Given the description of an element on the screen output the (x, y) to click on. 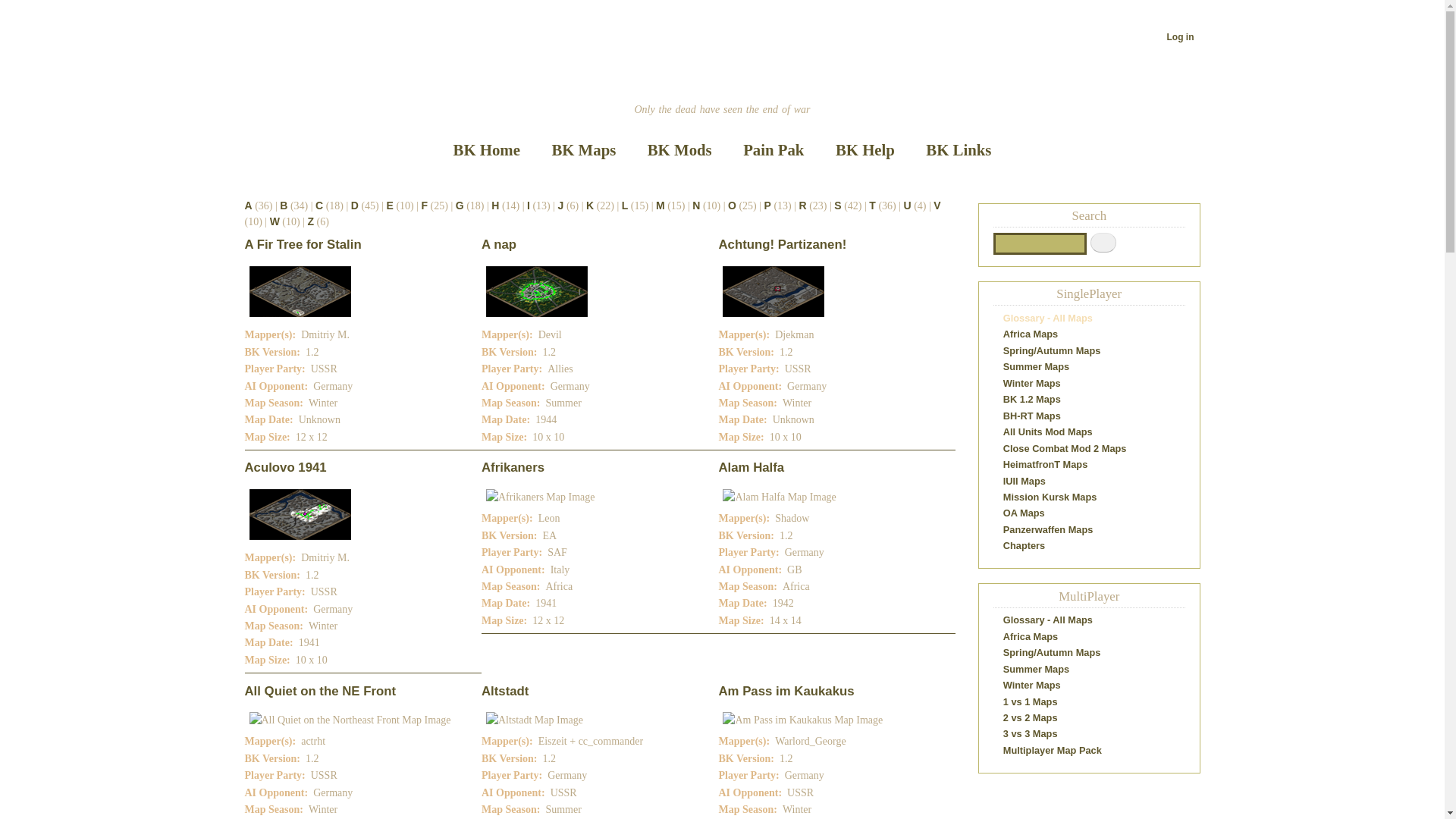
W Element type: text (274, 221)
Spring/Autumn Maps Element type: text (1052, 350)
E Element type: text (389, 205)
BK 1.2 Maps Element type: text (1031, 398)
P Element type: text (767, 205)
Chapters Element type: text (1023, 545)
Close Combat Mod 2 Maps Element type: text (1064, 448)
HeimatfronT Maps Element type: text (1045, 464)
C Element type: text (319, 205)
1 vs 1 Maps Element type: text (1030, 701)
V Element type: text (936, 205)
BK Help Element type: text (864, 149)
N Element type: text (695, 205)
R Element type: text (802, 205)
Z Element type: text (310, 221)
3 vs 3 Maps Element type: text (1030, 733)
Afrikaners Element type: text (512, 467)
S Element type: text (837, 205)
H Element type: text (494, 205)
Aculovo 1941 Element type: text (285, 467)
Enter the terms you wish to search for. Element type: hover (1039, 243)
Africa Maps Element type: text (1030, 636)
BK Home Element type: text (486, 149)
Search Element type: text (1103, 242)
I Element type: text (528, 205)
Am Pass im Kaukakus Element type: text (785, 691)
J Element type: text (561, 205)
Panzerwaffen Maps Element type: text (1048, 529)
A nap Element type: text (498, 244)
A Element type: text (247, 205)
Spring/Autumn Maps Element type: text (1052, 652)
OA Maps Element type: text (1023, 512)
2 vs 2 Maps Element type: text (1030, 717)
L Element type: text (624, 205)
G Element type: text (459, 205)
BK Mods Element type: text (679, 149)
Multiplayer Map Pack Element type: text (1052, 750)
BK Maps Element type: text (583, 149)
Log in Element type: text (1180, 37)
All Units Mod Maps Element type: text (1047, 431)
Glossary - All Maps Element type: text (1047, 619)
T Element type: text (872, 205)
O Element type: text (732, 205)
Alam Halfa Element type: text (751, 467)
M Element type: text (660, 205)
Summer Maps Element type: text (1036, 366)
BK Links Element type: text (959, 149)
K Element type: text (589, 205)
Glossary - All Maps Element type: text (1047, 317)
U Element type: text (907, 205)
Achtung! Partizanen! Element type: text (782, 244)
B Element type: text (283, 205)
IUII Maps Element type: text (1024, 480)
BH-RT Maps Element type: text (1031, 415)
All Quiet on the NE Front Element type: text (319, 691)
Skip to main content Element type: text (722, 1)
Mission Kursk Maps Element type: text (1050, 496)
A Fir Tree for Stalin Element type: text (302, 244)
Pain Pak Element type: text (773, 149)
Altstadt Element type: text (504, 691)
Winter Maps Element type: text (1031, 684)
Summer Maps Element type: text (1036, 668)
F Element type: text (424, 205)
Africa Maps Element type: text (1030, 333)
D Element type: text (354, 205)
Winter Maps Element type: text (1031, 383)
